Given the description of an element on the screen output the (x, y) to click on. 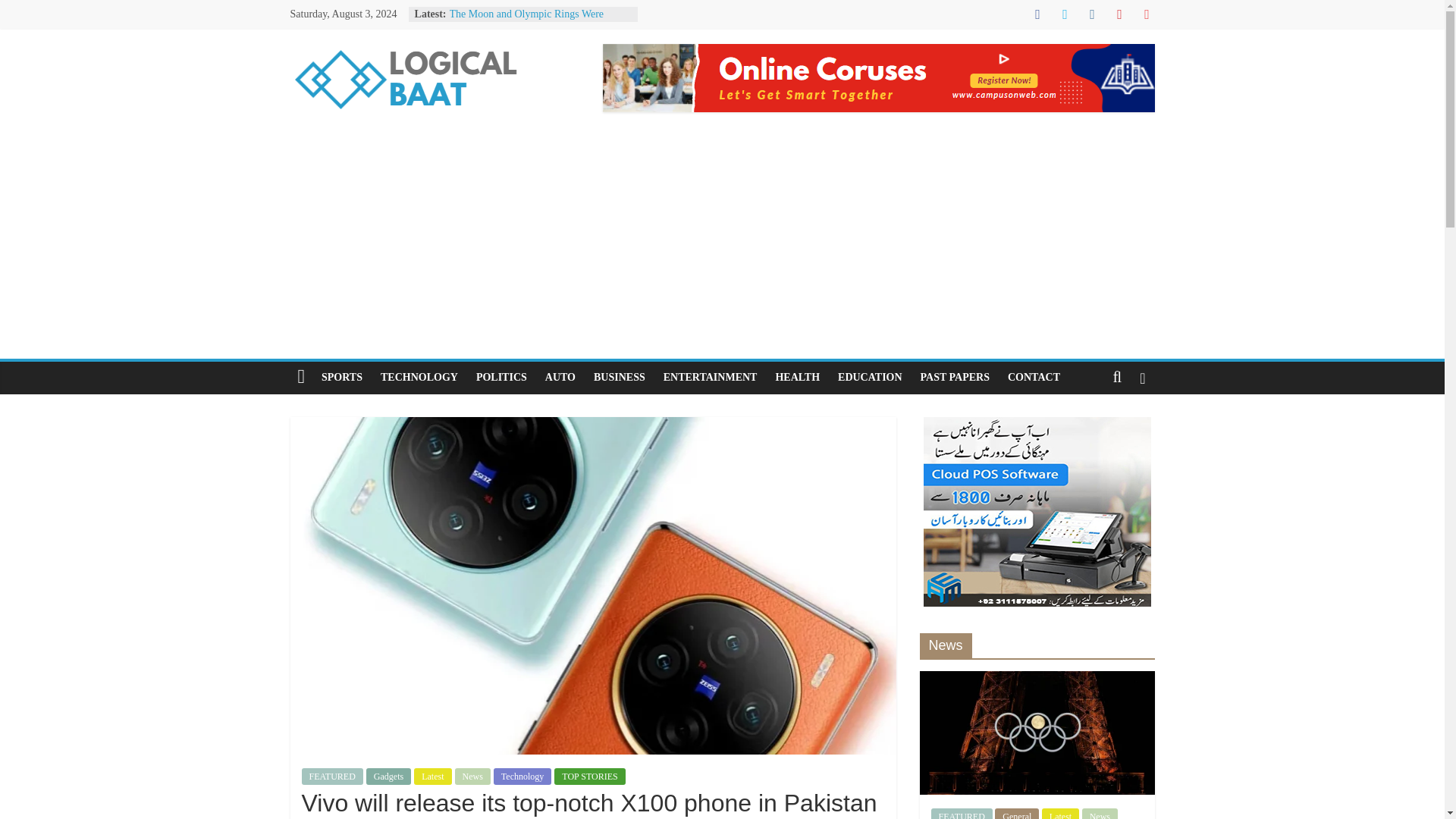
AUTO (560, 377)
EDUCATION (869, 377)
TOP STORIES (589, 776)
ENTERTAINMENT (710, 377)
Latest (432, 776)
Technology (522, 776)
CONTACT (1033, 377)
TECHNOLOGY (419, 377)
Gadgets (388, 776)
FEATURED (331, 776)
SPORTS (342, 377)
BUSINESS (619, 377)
News (472, 776)
